Given the description of an element on the screen output the (x, y) to click on. 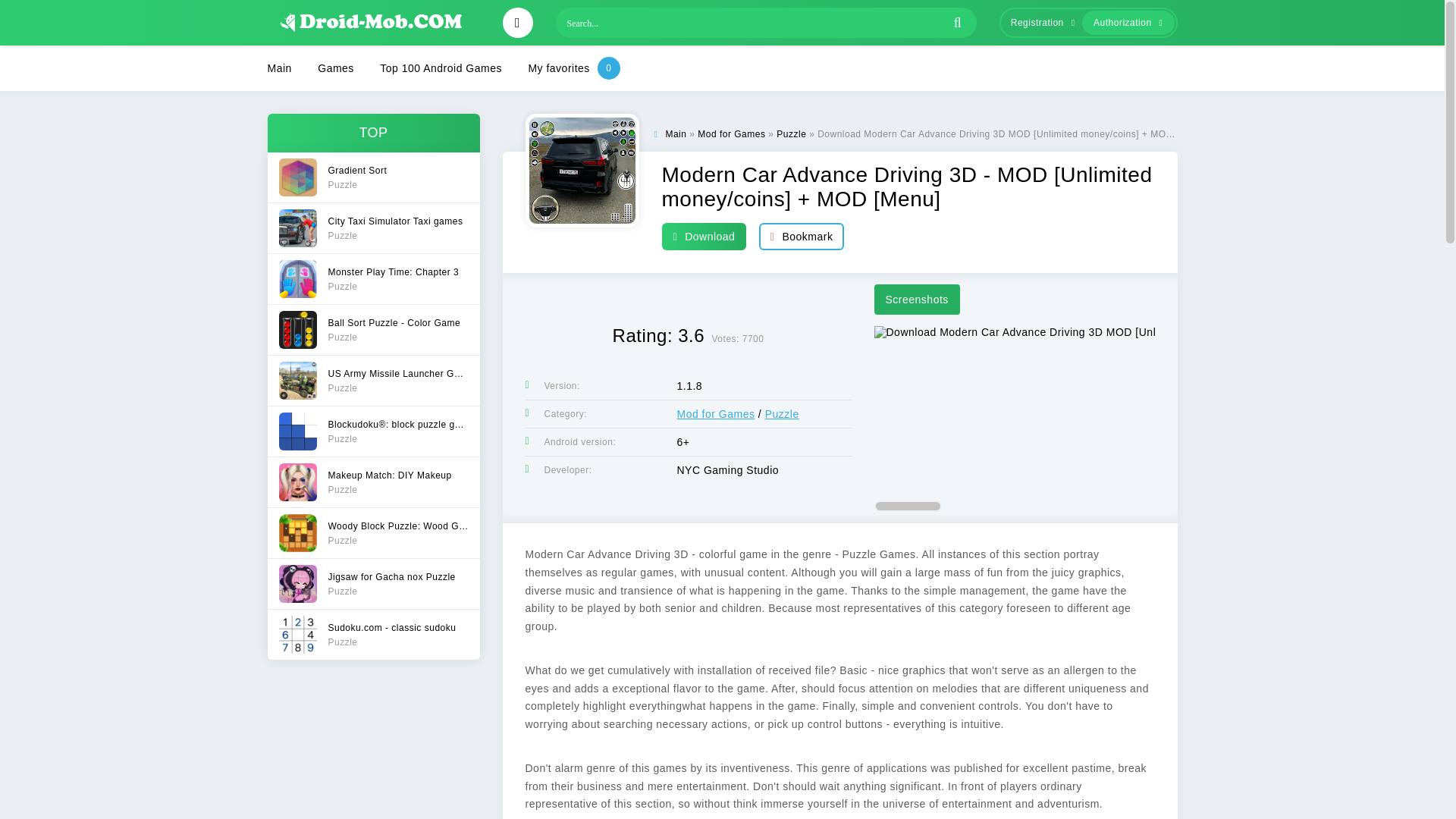
Mod for Games (372, 481)
Main (731, 133)
Mod for Games (372, 177)
Puzzle (675, 133)
